Given the description of an element on the screen output the (x, y) to click on. 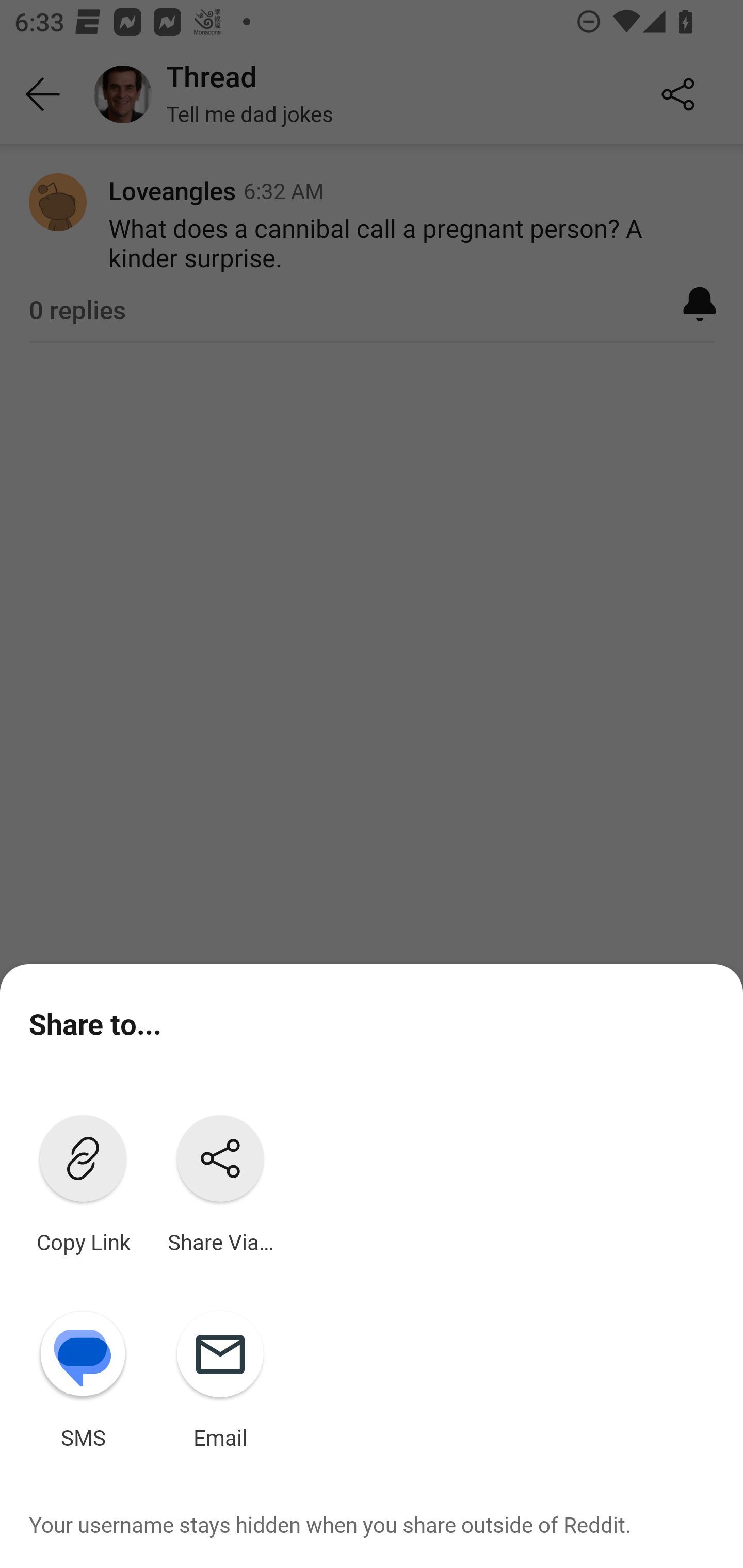
Copy Link (82, 1179)
Share Via… (220, 1179)
SMS (82, 1375)
Email (220, 1375)
Message Reply (324, 1513)
